Given the description of an element on the screen output the (x, y) to click on. 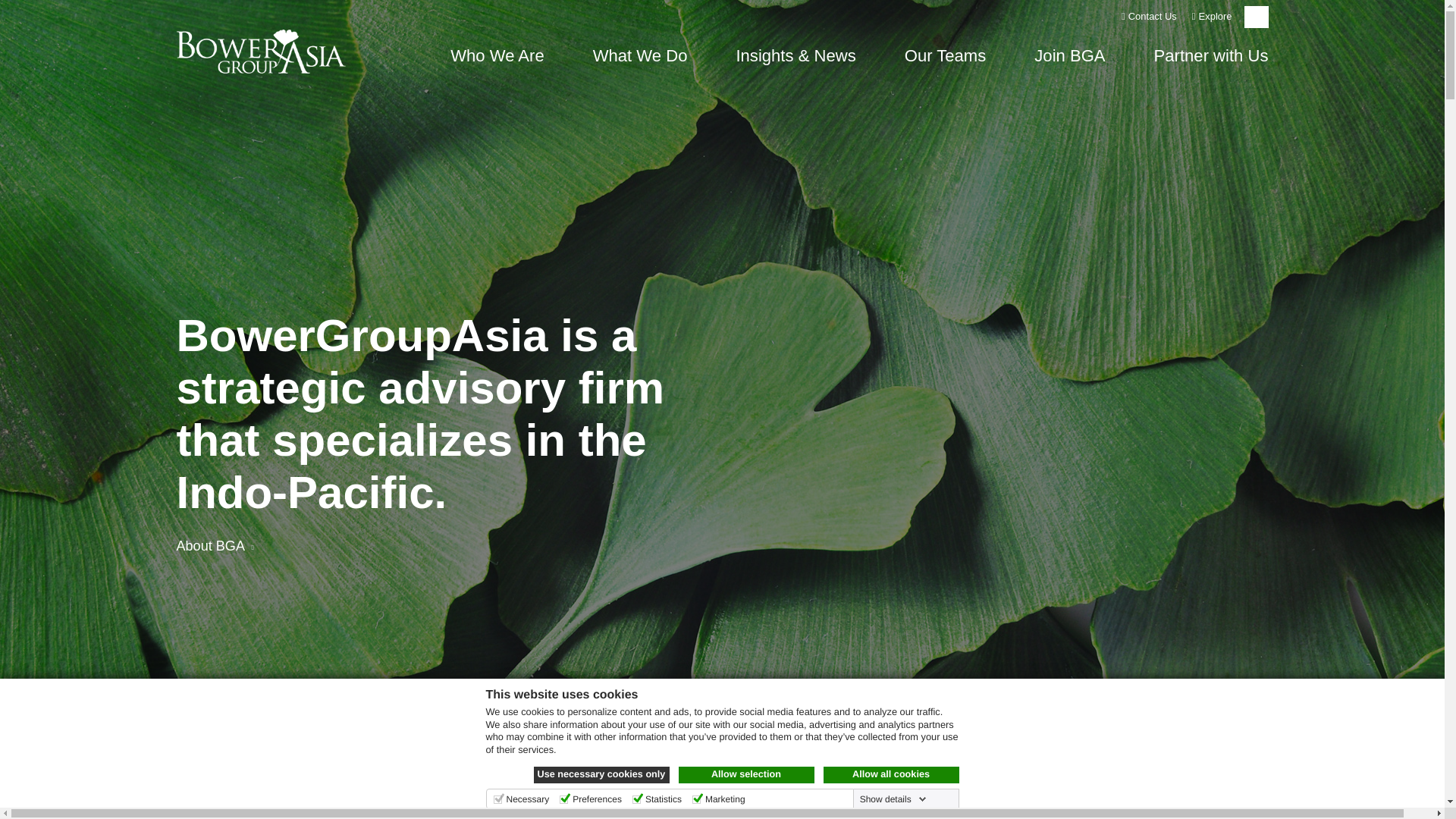
Show details (893, 799)
Use necessary cookies only (601, 774)
Partner with Us (1211, 63)
Allow selection (745, 774)
Join BGA (1069, 63)
Our Teams (945, 63)
Who We Are (497, 63)
What We Do (640, 63)
Allow all cookies (891, 774)
